Given the description of an element on the screen output the (x, y) to click on. 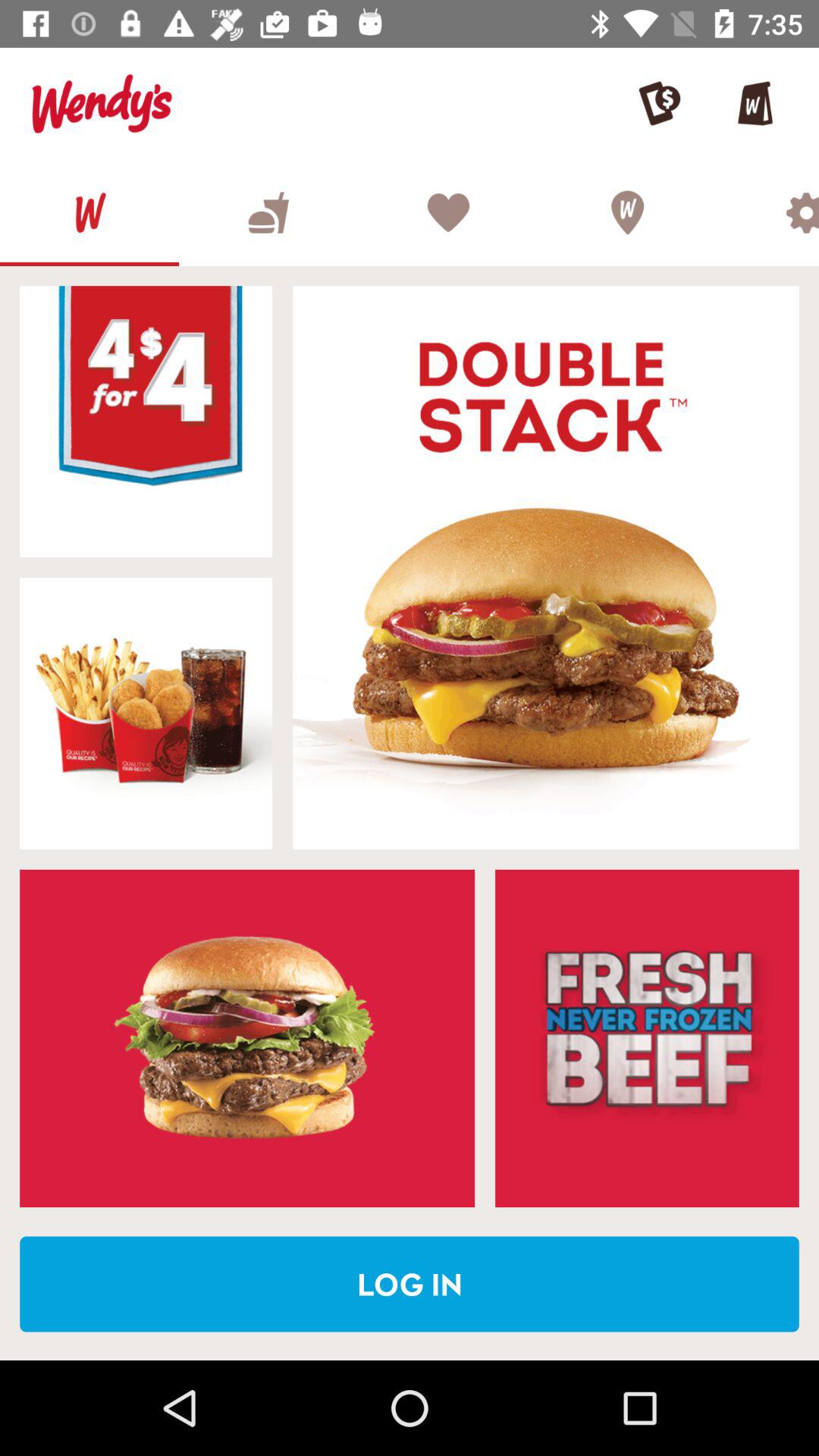
open food and drinks menu (268, 212)
